Given the description of an element on the screen output the (x, y) to click on. 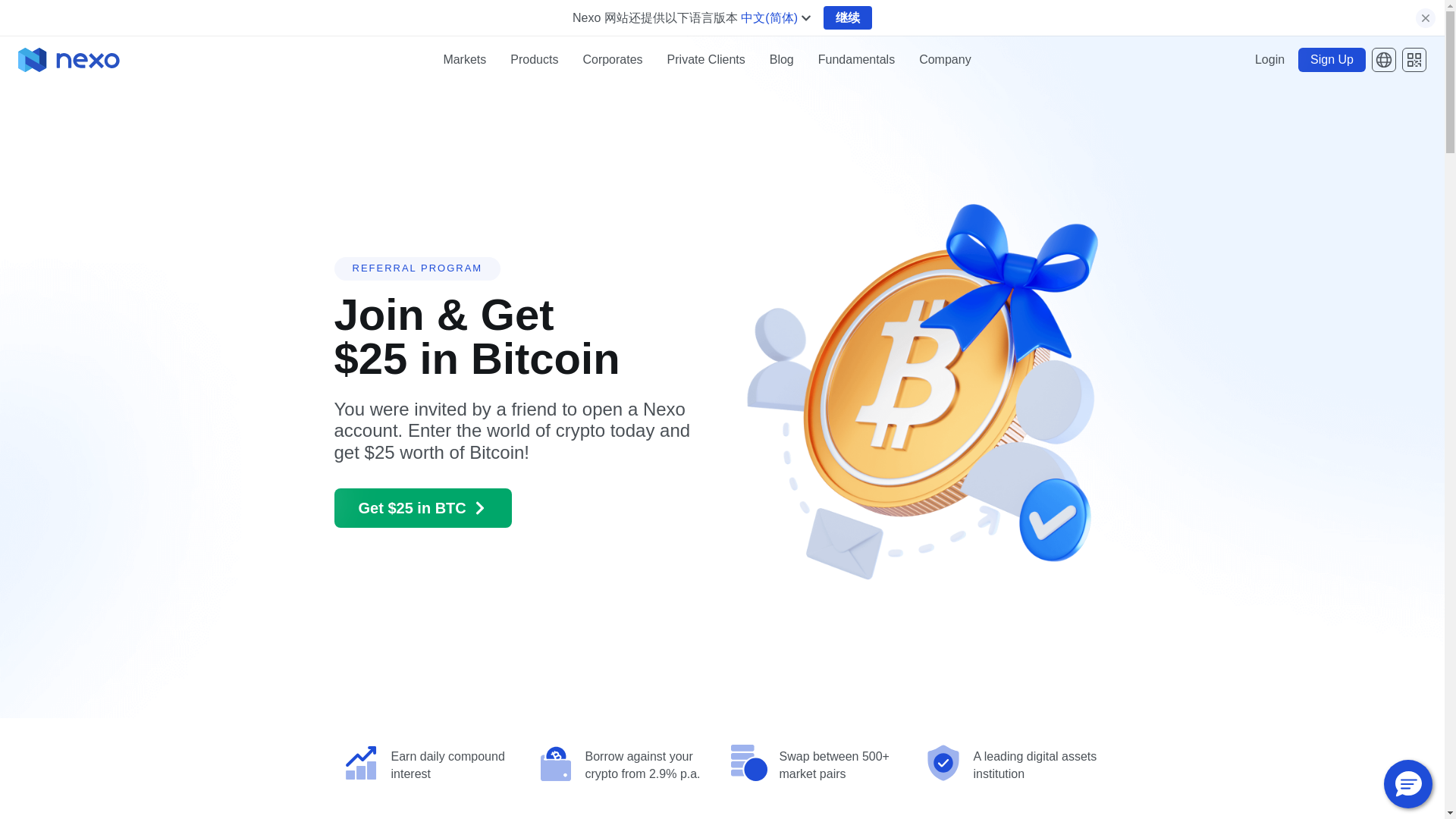
Products (533, 60)
Fundamentals (856, 60)
Private Clients (706, 60)
Corporates (611, 60)
Company (944, 60)
View Nexo app QR code (1414, 59)
Markets (463, 60)
Blog (781, 60)
Login (1270, 59)
Crypo Wealth Management (706, 60)
Sign Up (1331, 59)
